Given the description of an element on the screen output the (x, y) to click on. 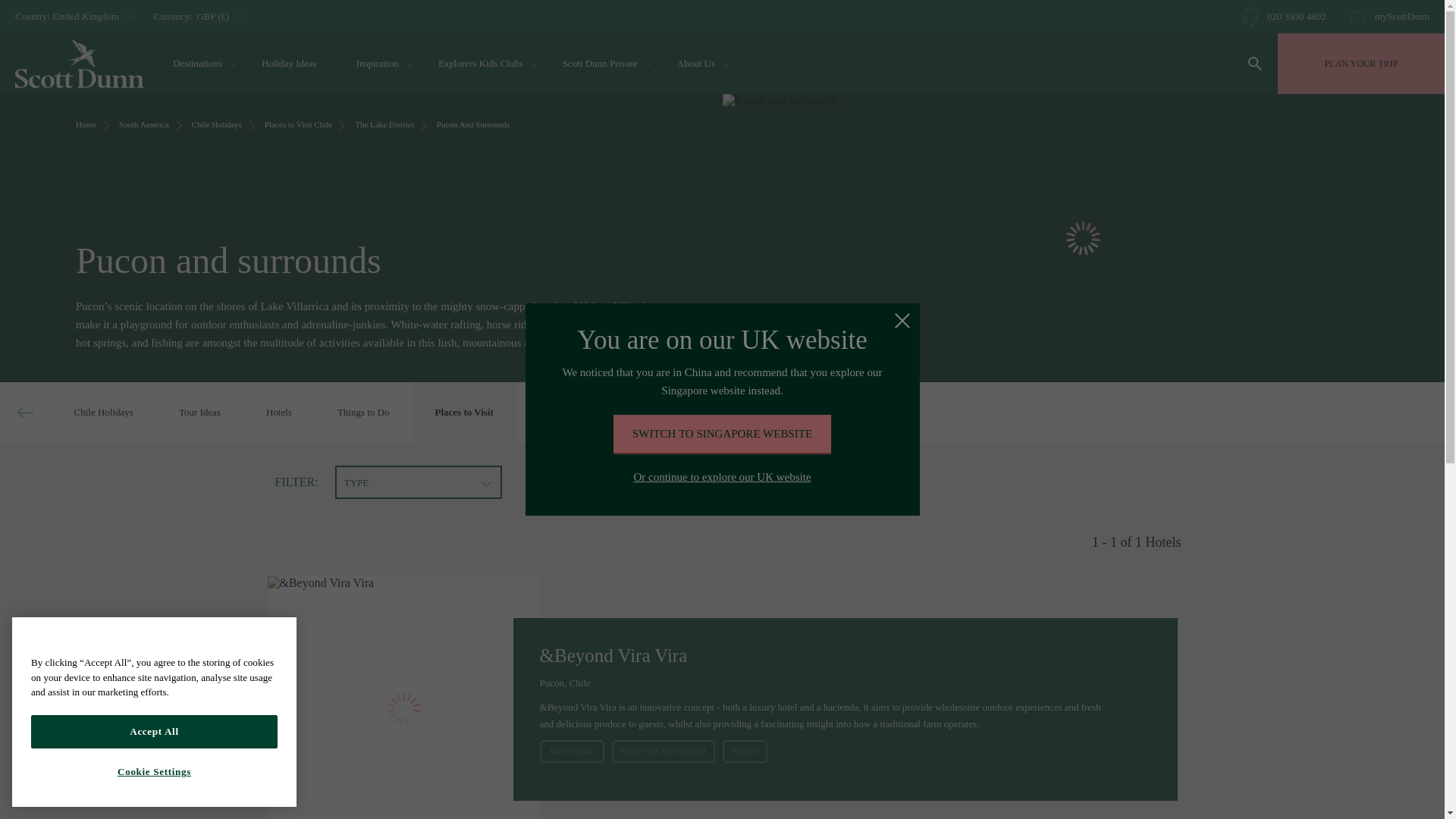
myScottDunn (1389, 16)
020 3930 4802 (1283, 16)
Destinations (202, 63)
